Given the description of an element on the screen output the (x, y) to click on. 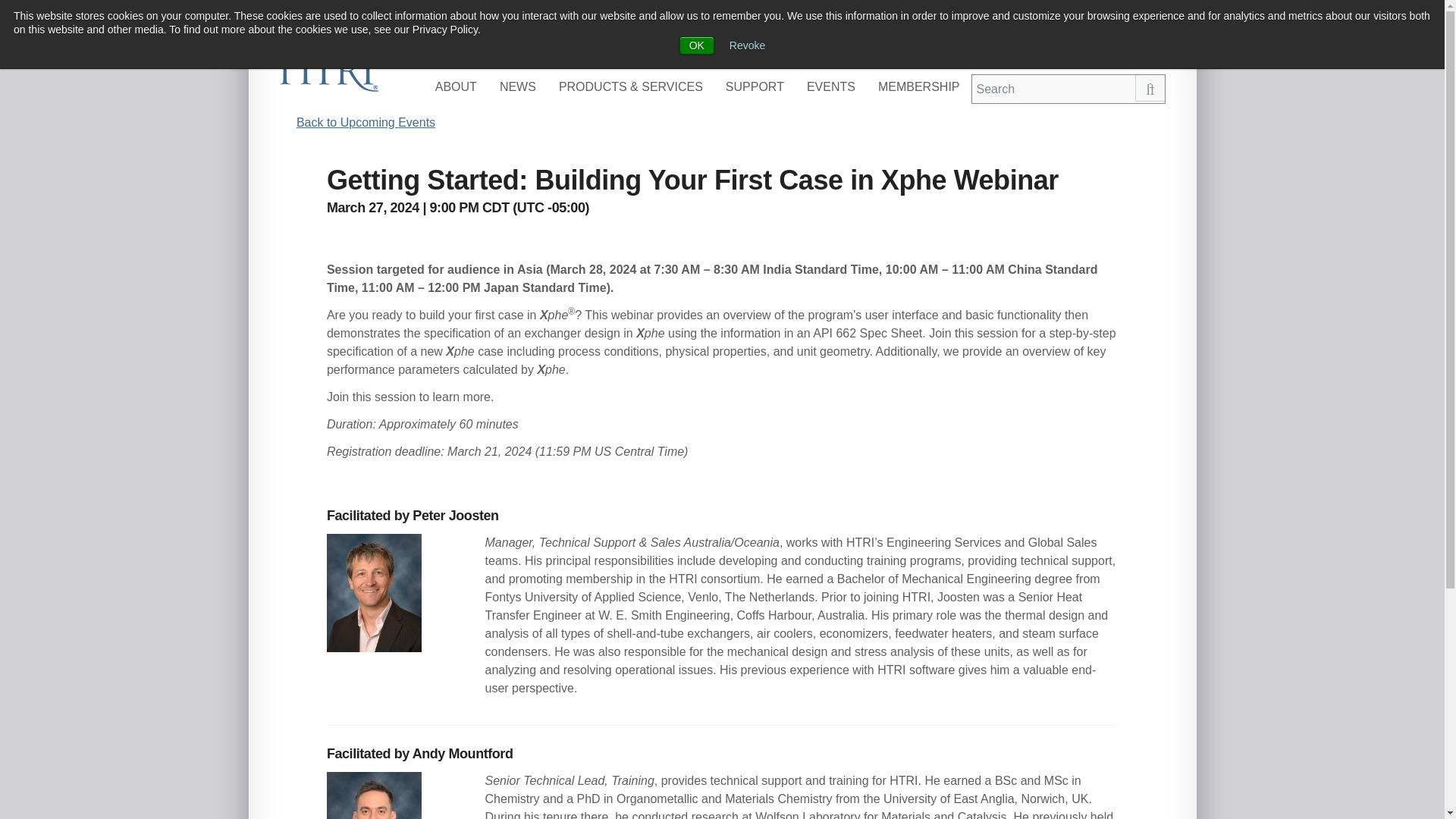
Create Account (1119, 48)
Go to HTRI Home (328, 70)
Log In (1045, 48)
Green Efforts (903, 48)
Contact Us (984, 48)
ABOUT (455, 86)
NEWS (517, 86)
OK (696, 45)
Revoke (747, 45)
